Given the description of an element on the screen output the (x, y) to click on. 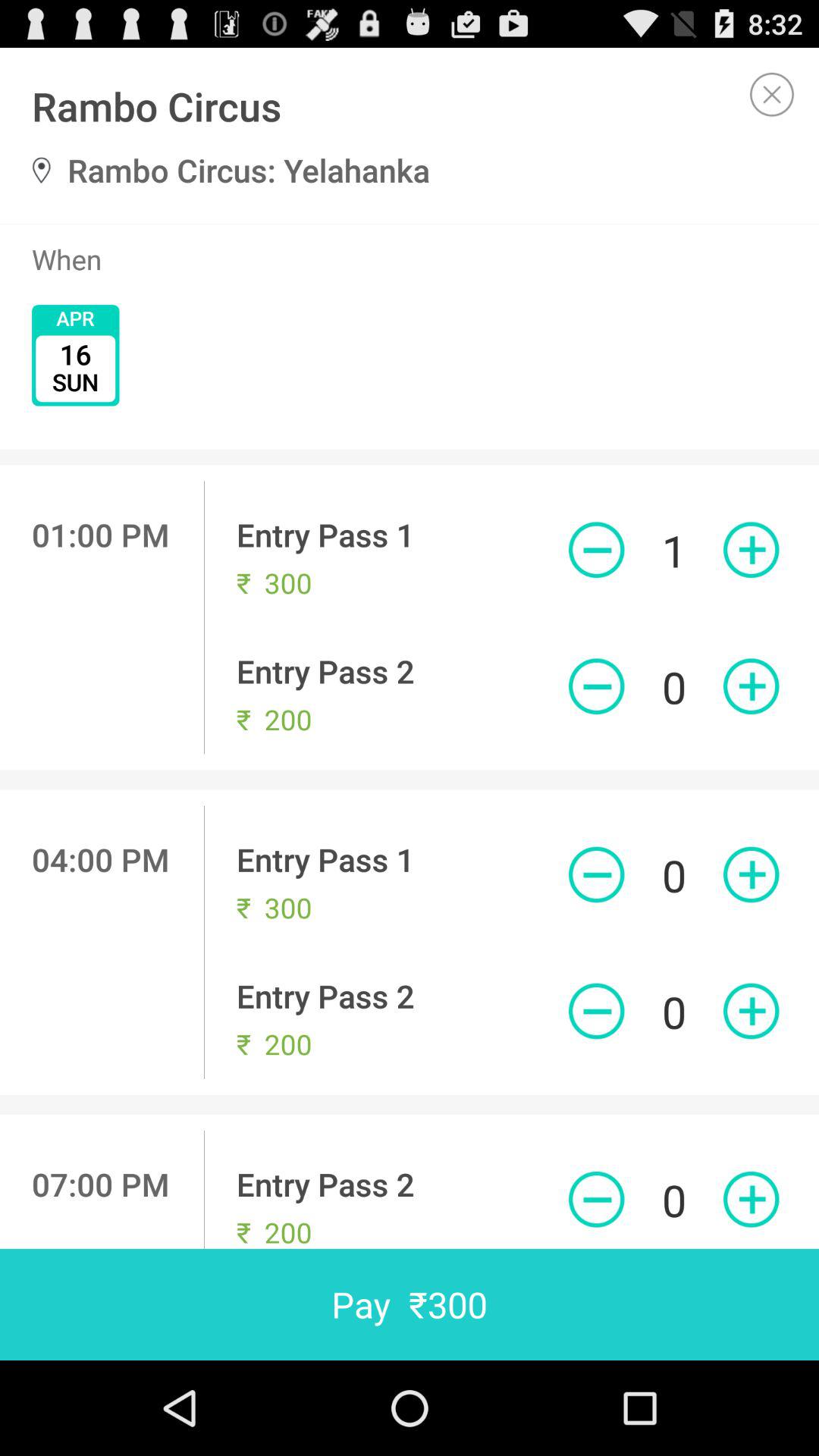
increase the number of guests (751, 1011)
